Given the description of an element on the screen output the (x, y) to click on. 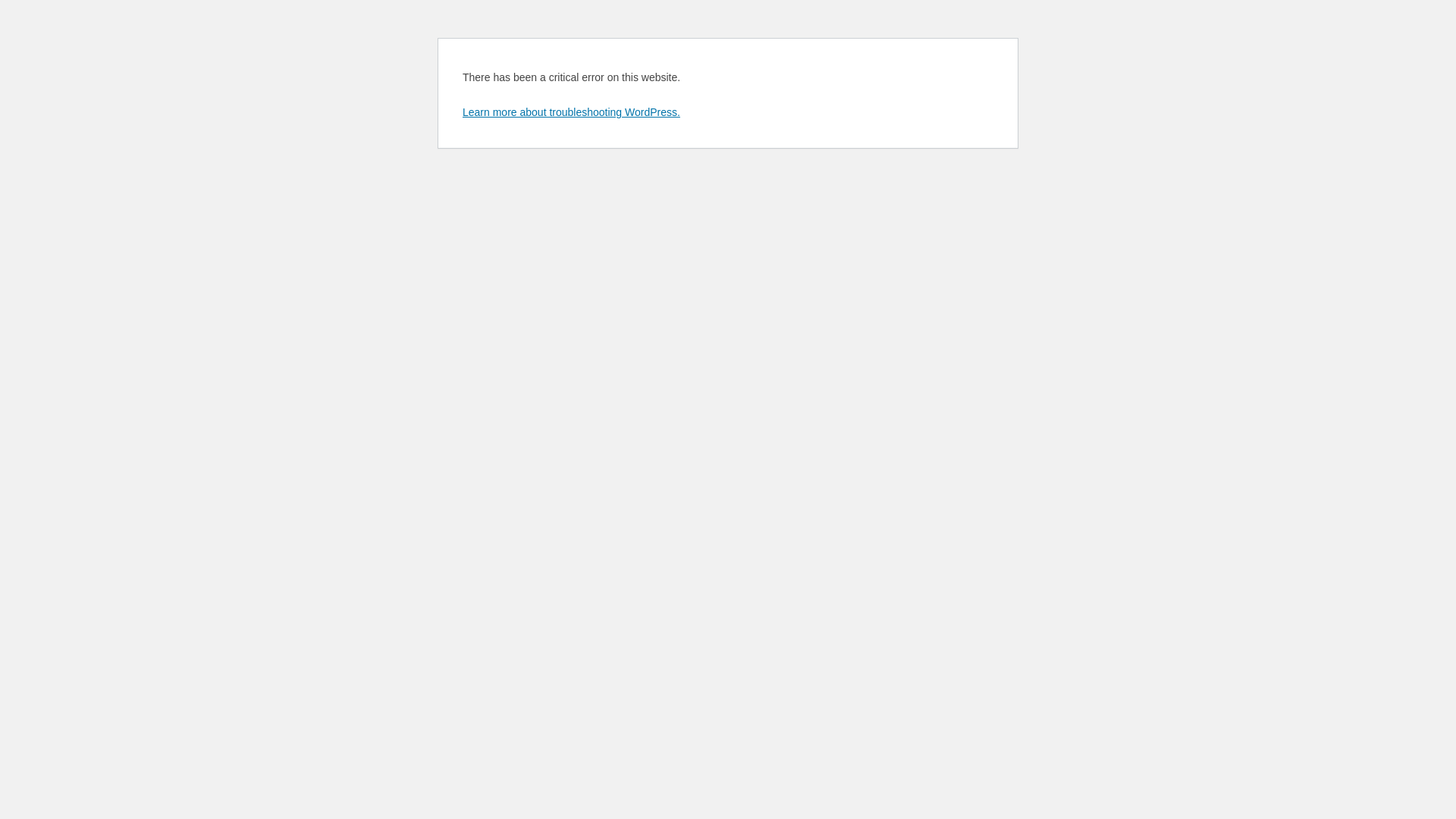
Learn more about troubleshooting WordPress. Element type: text (571, 112)
